Given the description of an element on the screen output the (x, y) to click on. 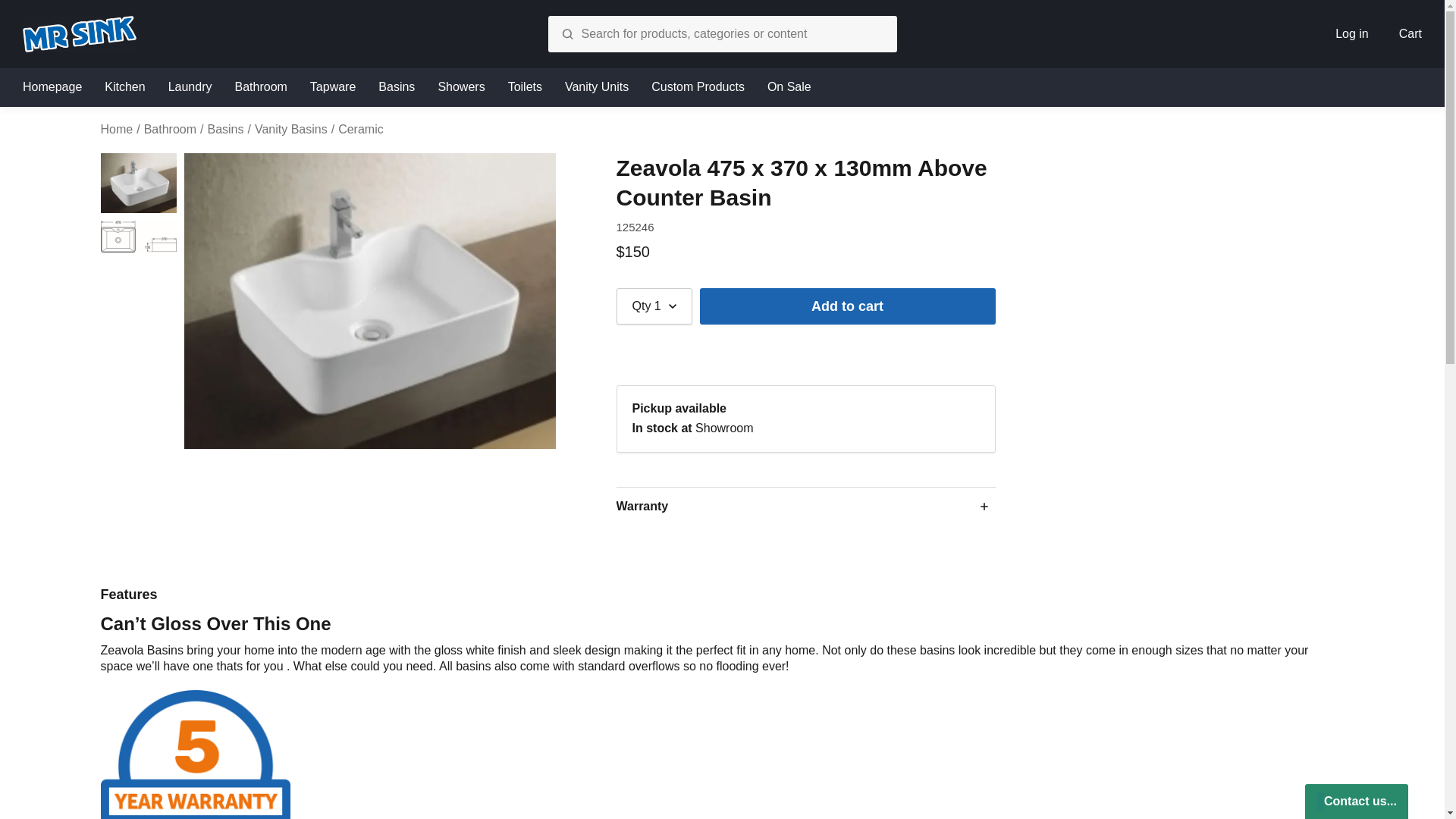
Basins Element type: text (225, 130)
Tapware Element type: text (332, 87)
Contact us... Element type: text (1356, 801)
Bathroom Element type: text (170, 130)
Warranty Element type: text (804, 506)
Vanity Basins Element type: text (290, 130)
Add to cart Element type: text (847, 306)
Homepage Element type: text (52, 87)
On Sale Element type: text (789, 87)
Qty 1 Element type: text (653, 306)
Vanity Units Element type: text (596, 87)
Kitchen Element type: text (124, 87)
Custom Products Element type: text (698, 87)
Bathroom Element type: text (260, 87)
Home Element type: text (116, 130)
Laundry Element type: text (189, 87)
Basins Element type: text (396, 87)
Ceramic Element type: text (360, 130)
Showers Element type: text (460, 87)
Cart Element type: text (1410, 34)
Toilets Element type: text (524, 87)
Log in Element type: text (1351, 34)
